Given the description of an element on the screen output the (x, y) to click on. 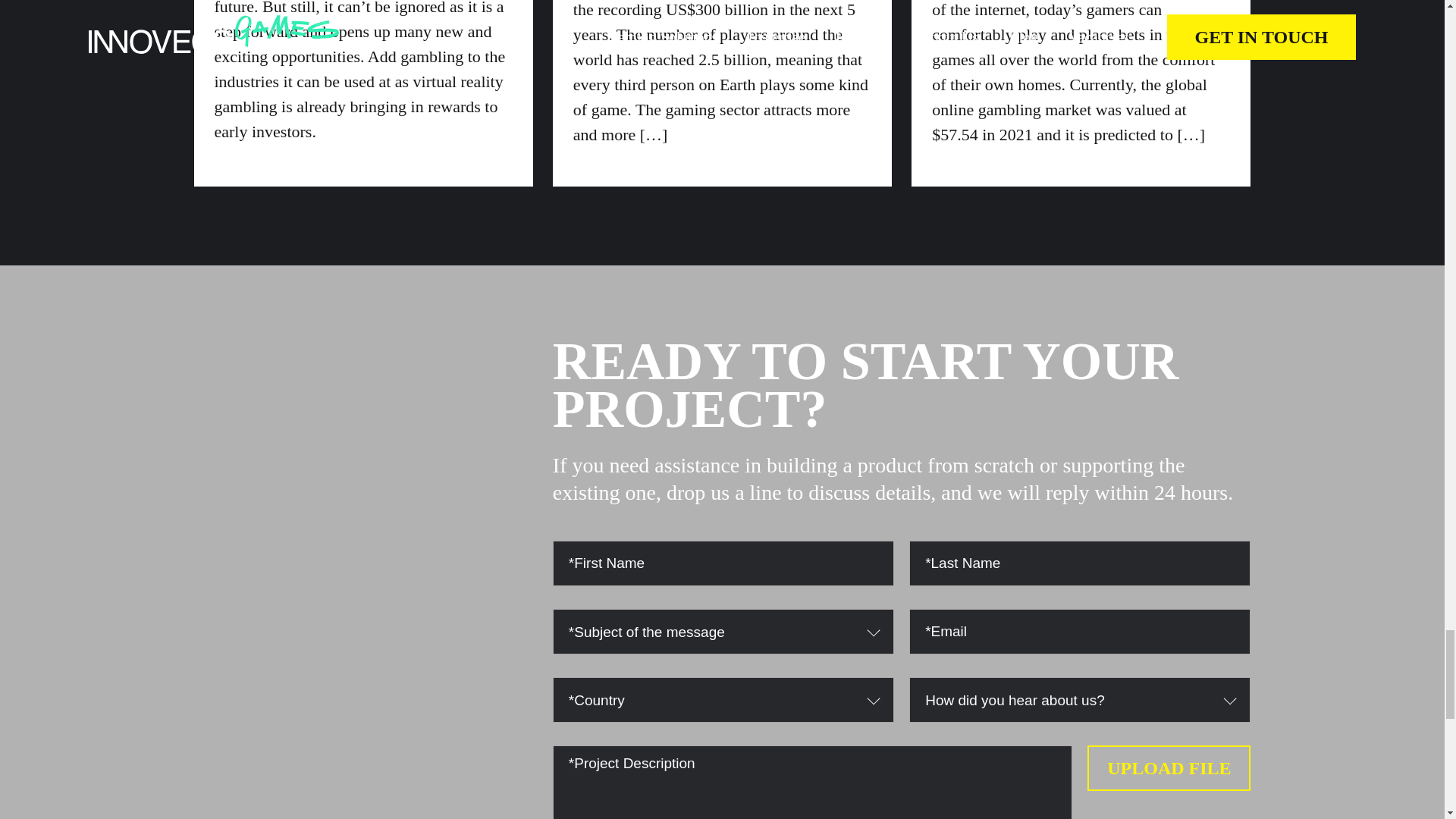
How did you hear about us? (1072, 700)
